Given the description of an element on the screen output the (x, y) to click on. 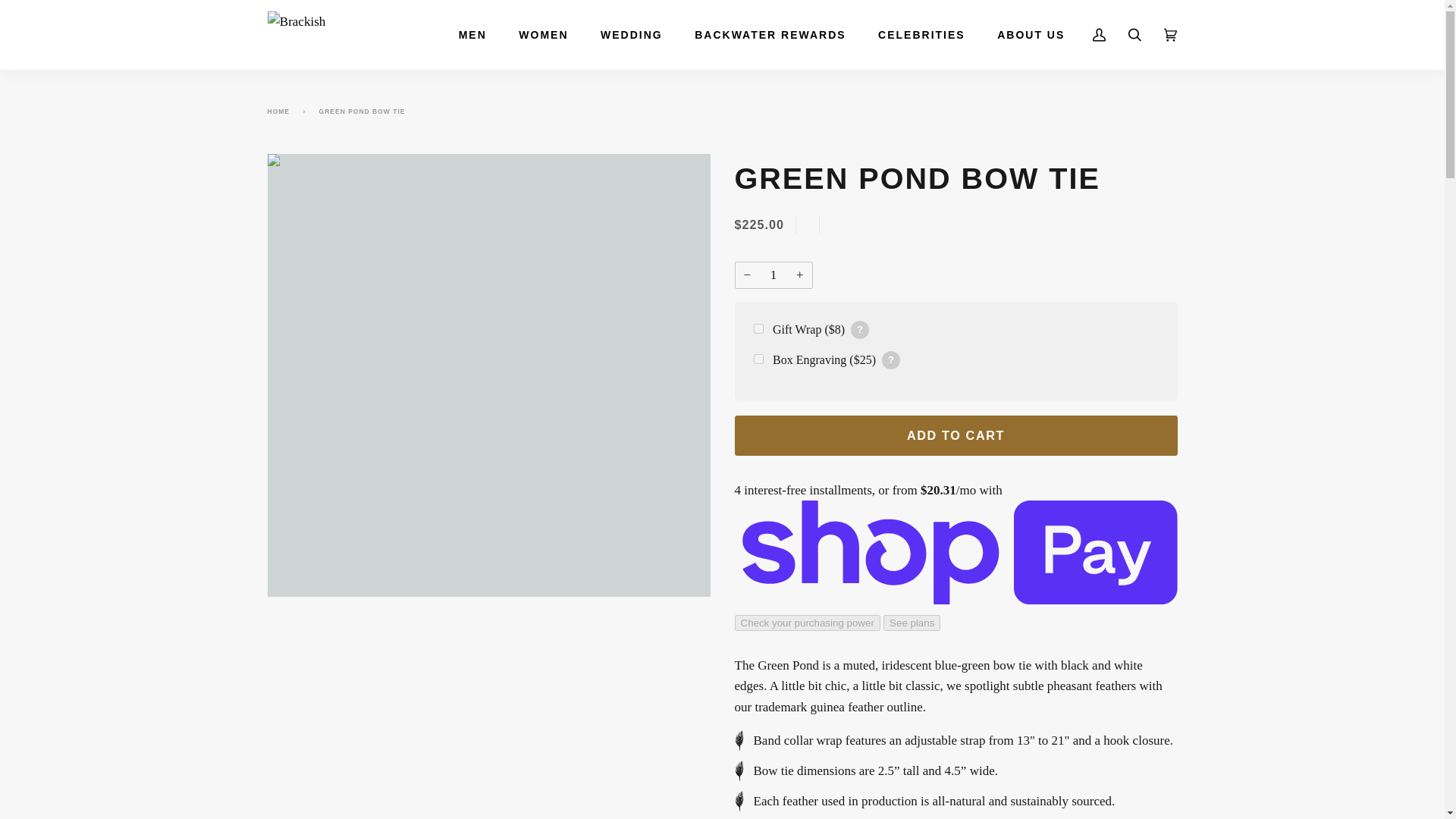
Back to the frontpage (280, 111)
on (758, 358)
1 (772, 275)
on (758, 328)
WOMEN (543, 34)
